Given the description of an element on the screen output the (x, y) to click on. 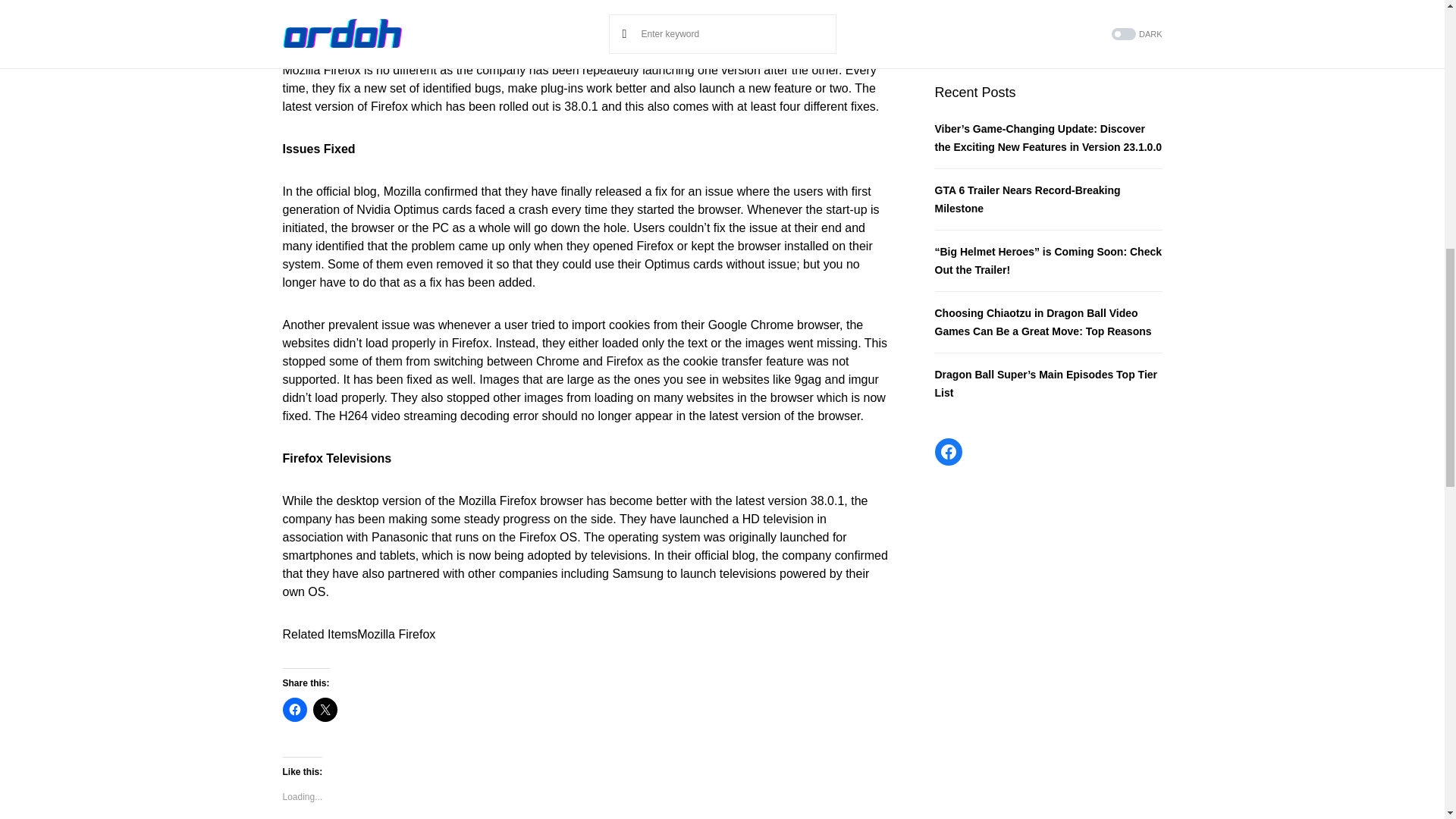
Click to share on Facebook (293, 709)
Click to share on X (324, 709)
